Given the description of an element on the screen output the (x, y) to click on. 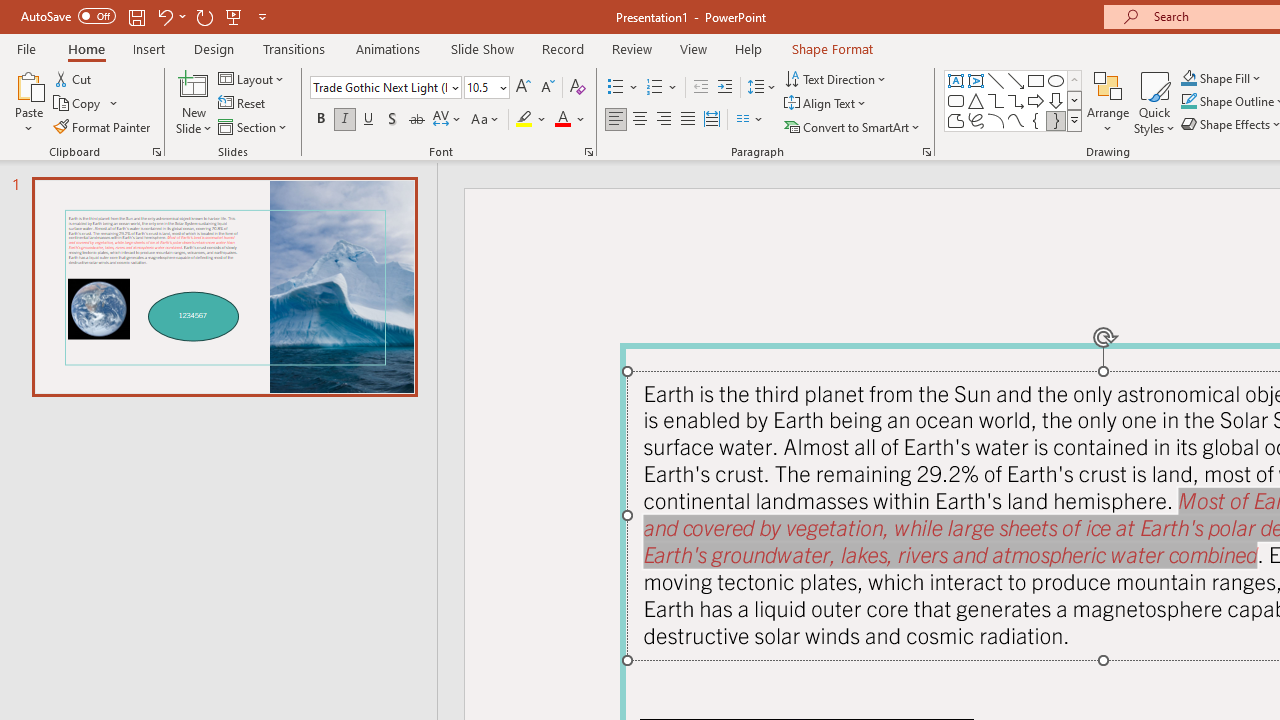
Shape Outline Teal, Accent 1 (1188, 101)
Shape Fill Aqua, Accent 2 (1188, 78)
